Given the description of an element on the screen output the (x, y) to click on. 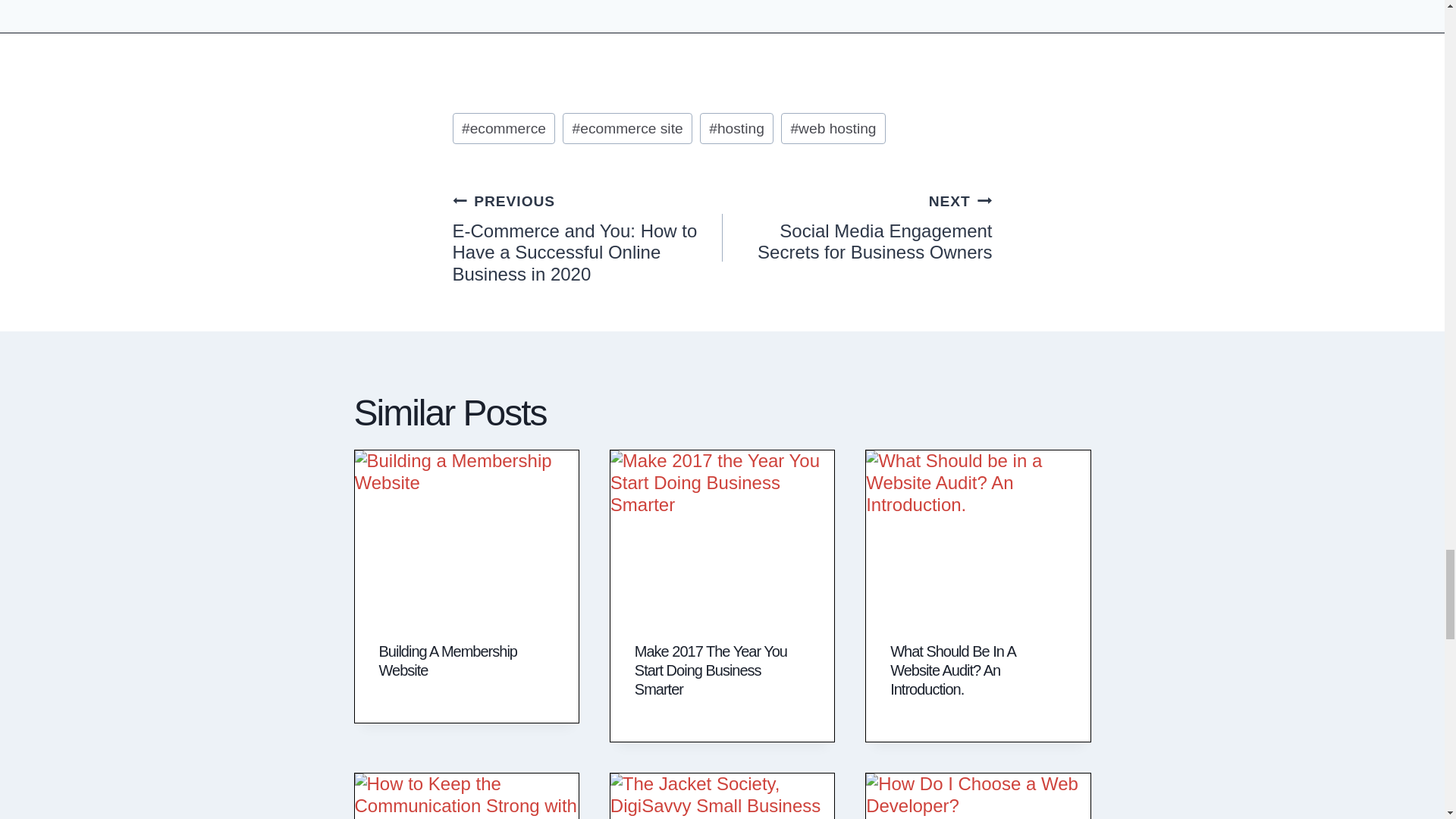
ecommerce (502, 128)
hosting (737, 128)
ecommerce site (627, 128)
web hosting (832, 128)
